Given the description of an element on the screen output the (x, y) to click on. 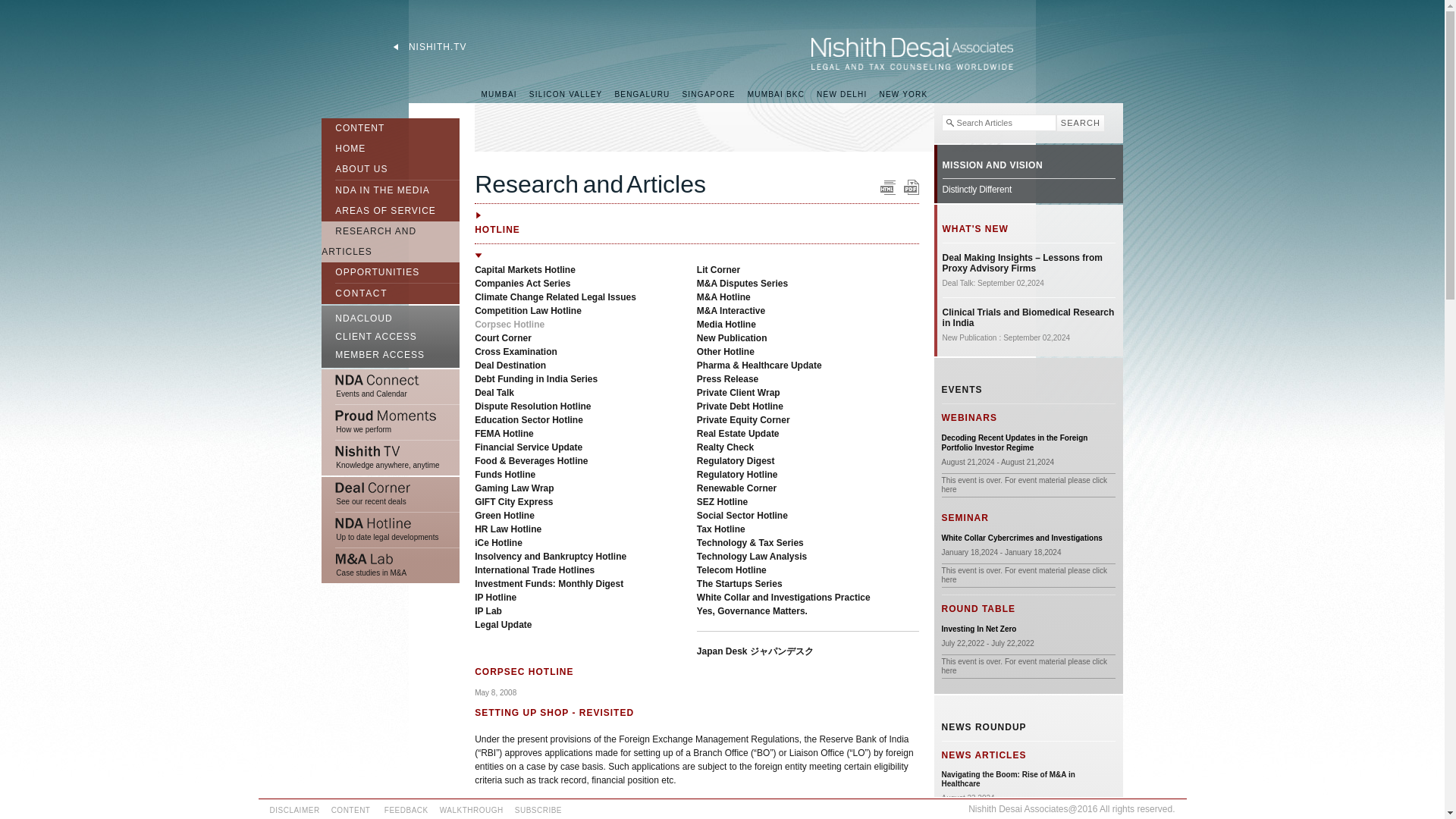
AREAS OF SERVICE (378, 210)
Conference (1022, 537)
CONTACT (354, 293)
MUMBAI (499, 94)
OPPORTUNITIES (370, 273)
Knowledge anywhere, anytime (390, 457)
CONTENT (352, 125)
MEMBER ACCESS (390, 356)
SINGAPORE (708, 94)
MUMBAI BKC (775, 94)
